Given the description of an element on the screen output the (x, y) to click on. 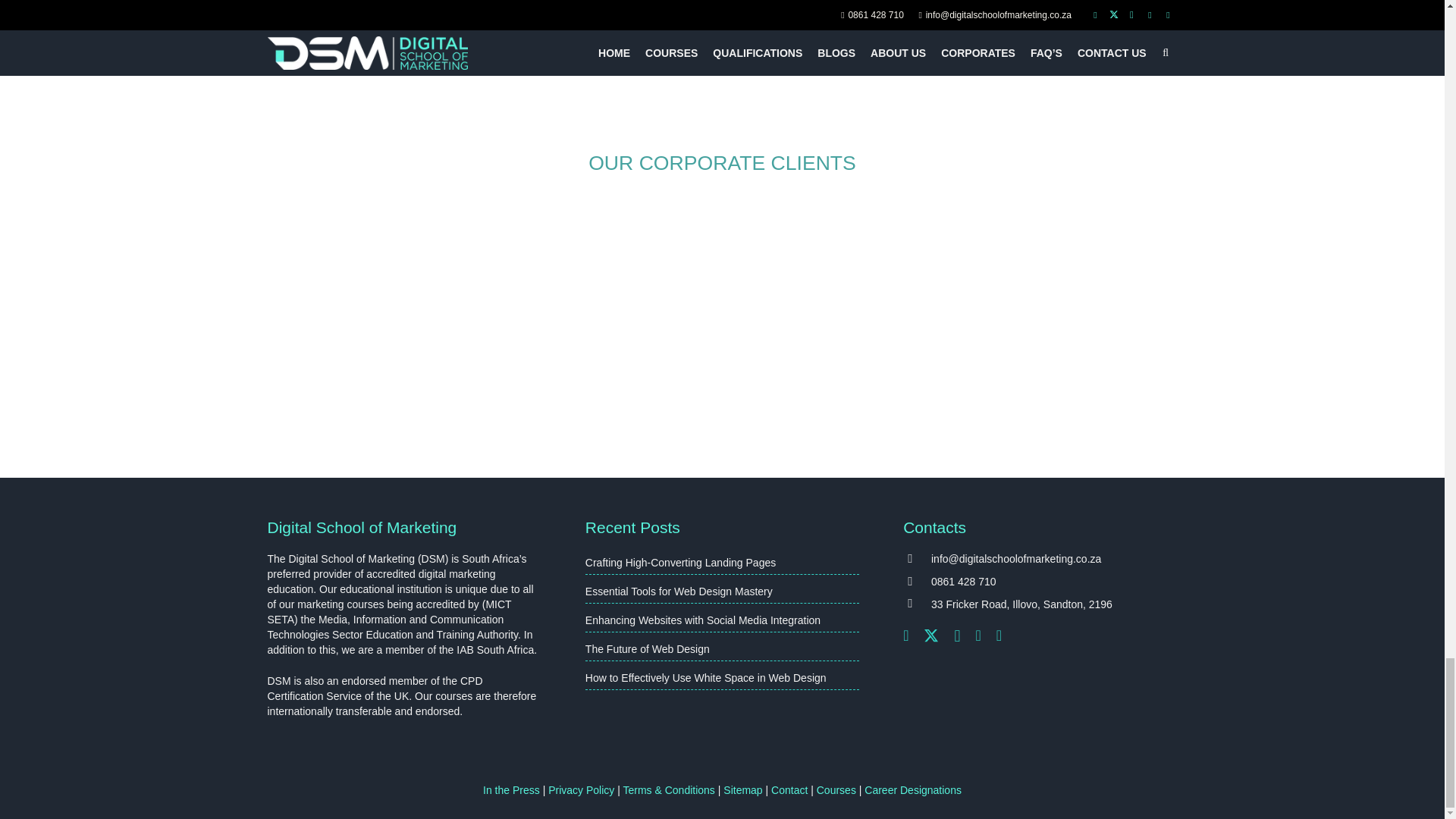
Twitter (931, 635)
